Given the description of an element on the screen output the (x, y) to click on. 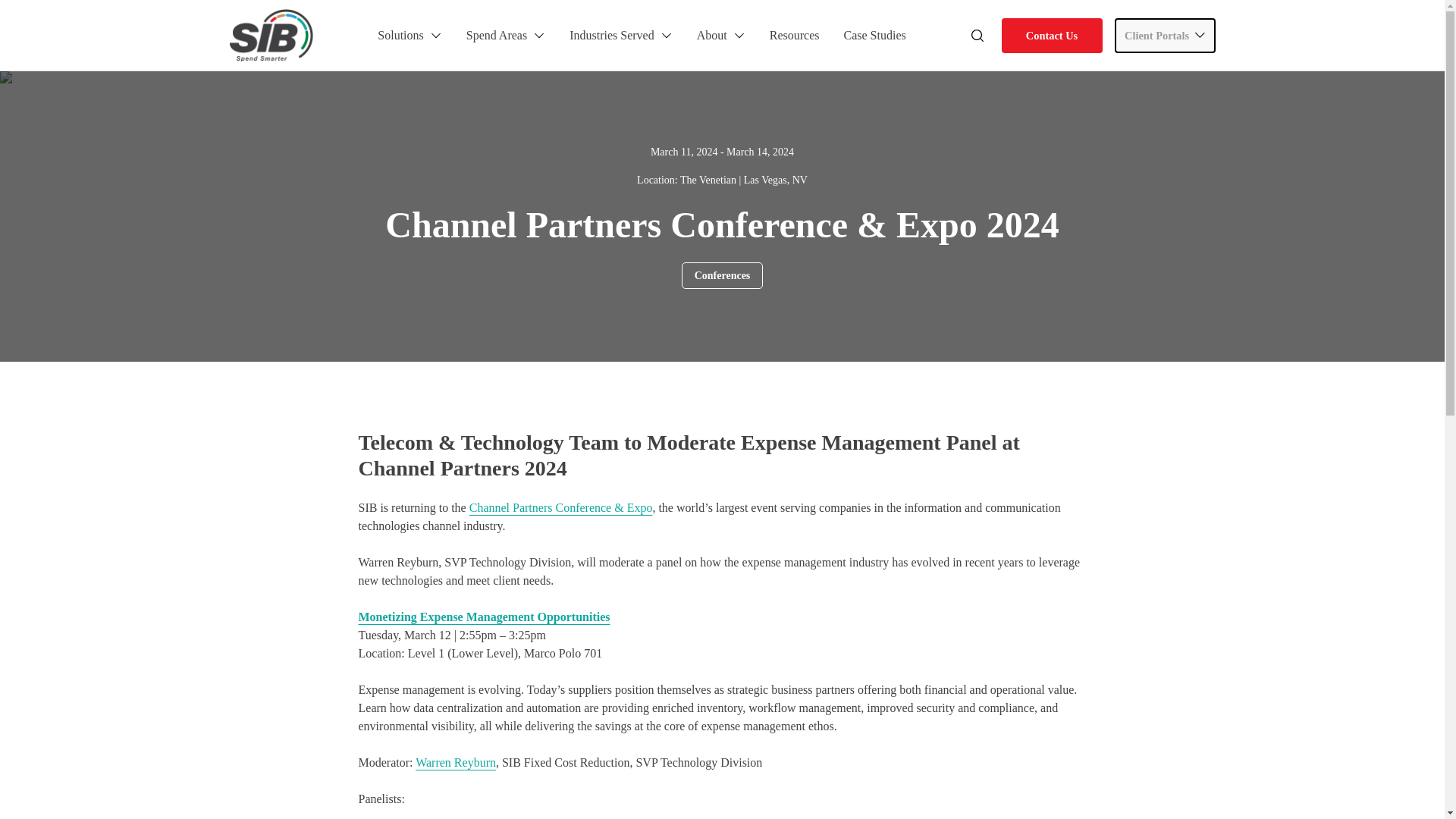
Industries Served (620, 35)
Solutions (409, 35)
About (721, 35)
Spend Areas (504, 35)
